Given the description of an element on the screen output the (x, y) to click on. 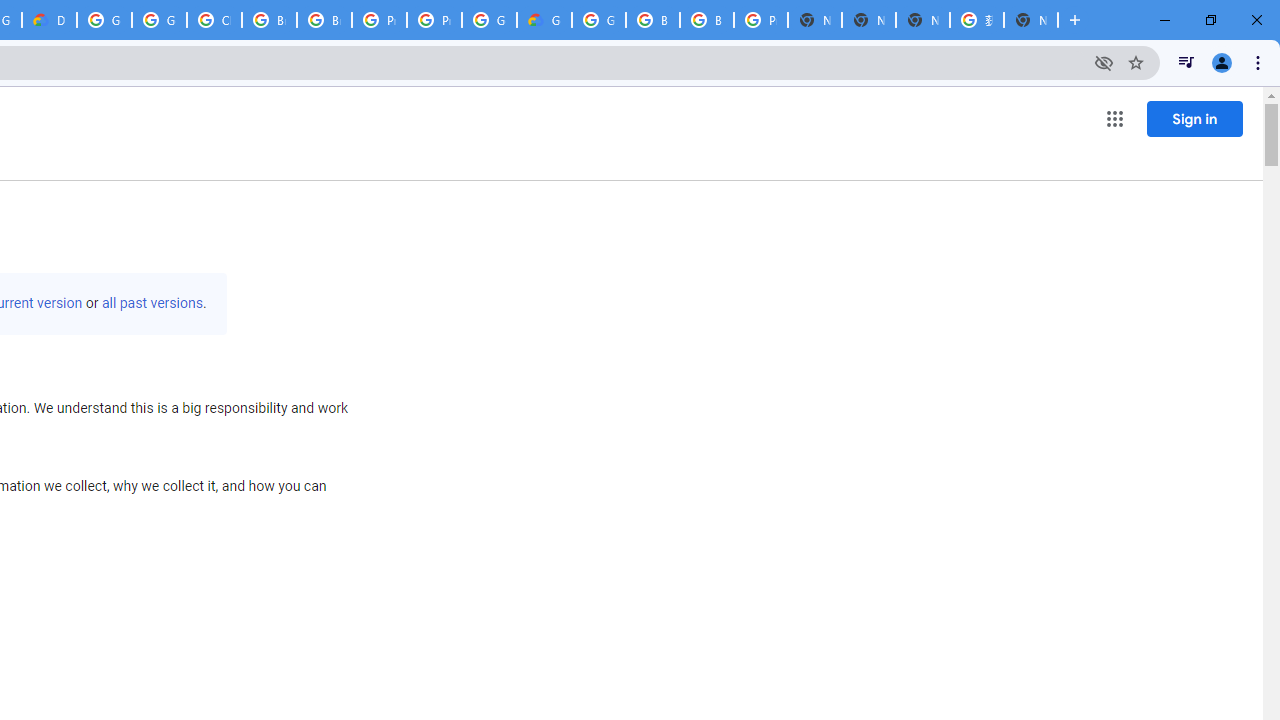
Browse Chrome as a guest - Computer - Google Chrome Help (268, 20)
Google Cloud Platform (103, 20)
Browse Chrome as a guest - Computer - Google Chrome Help (652, 20)
Browse Chrome as a guest - Computer - Google Chrome Help (324, 20)
Google Cloud Platform (598, 20)
New Tab (815, 20)
